Given the description of an element on the screen output the (x, y) to click on. 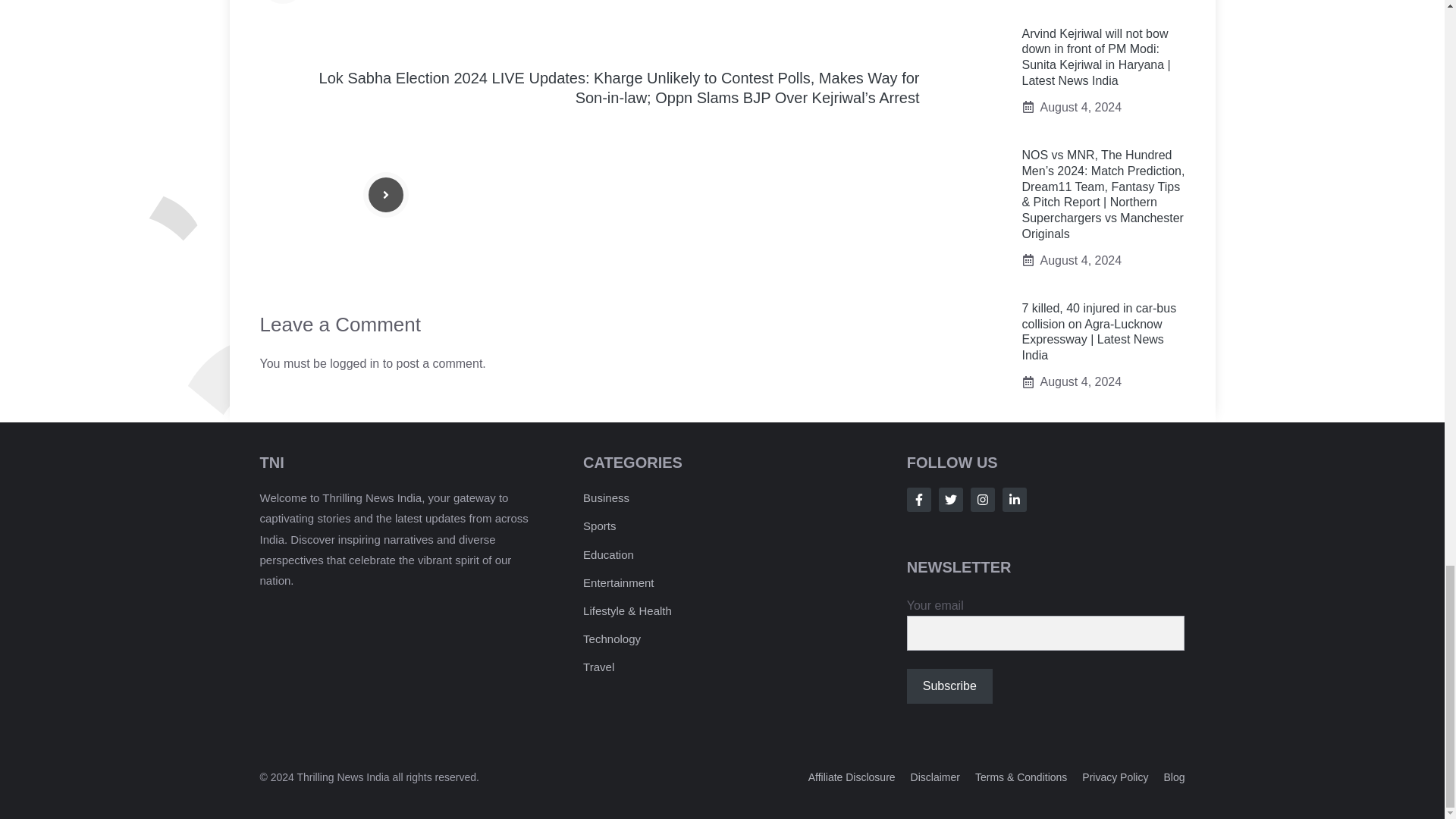
Education (608, 554)
Entertainment (618, 582)
Travel (598, 666)
Sports (599, 525)
logged in (354, 363)
Technology (611, 638)
Subscribe (949, 686)
Business (605, 497)
